Given the description of an element on the screen output the (x, y) to click on. 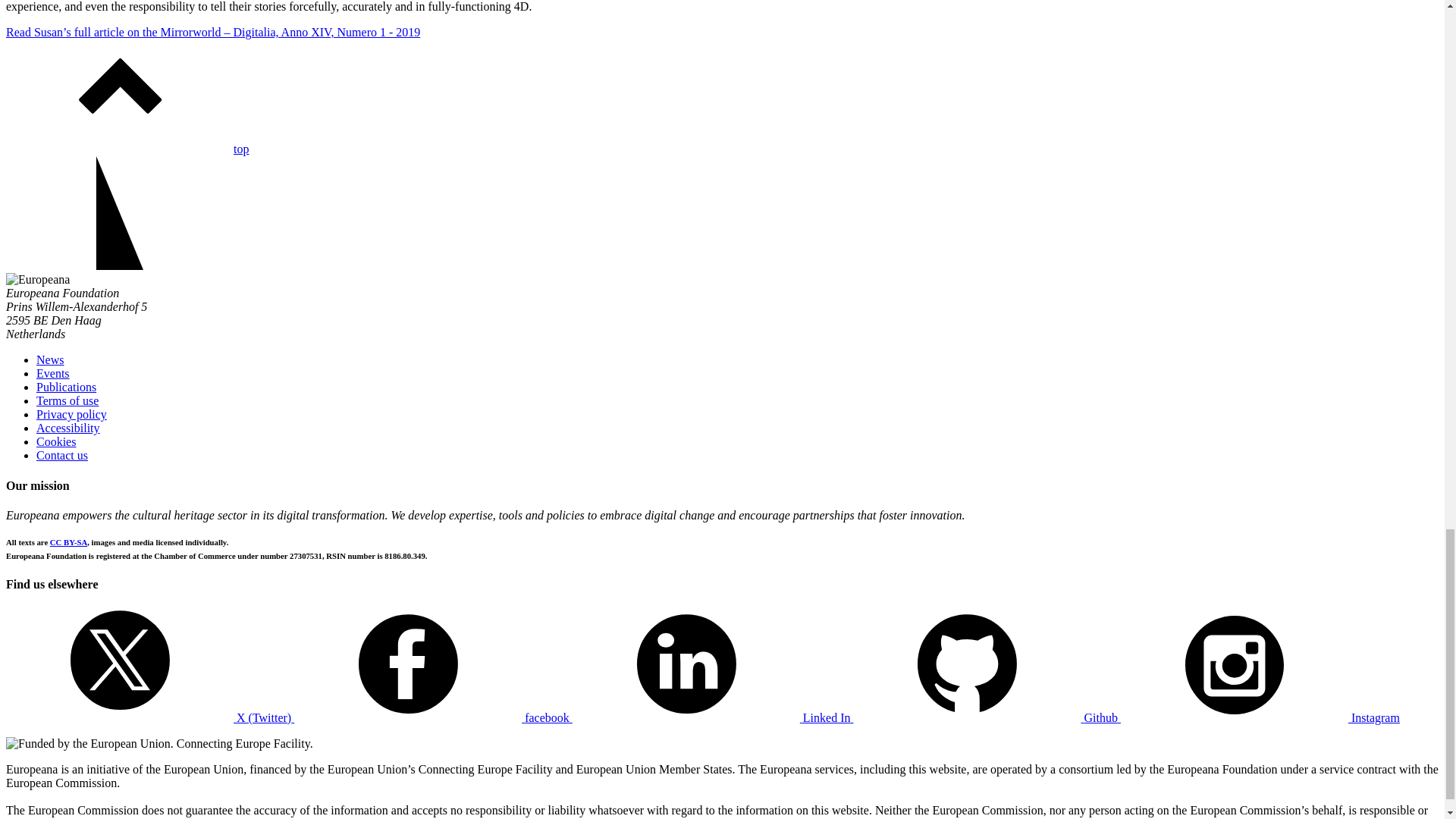
CC BY-SA (68, 542)
facebook (433, 716)
Publications (66, 386)
top (126, 148)
Linked In (712, 716)
Instagram (1260, 716)
Events (52, 373)
Github (986, 716)
News (50, 359)
Privacy policy (71, 413)
Events (52, 373)
Cookies (55, 440)
Accessibility (68, 427)
Terms of use (67, 400)
Contact us (61, 454)
